Given the description of an element on the screen output the (x, y) to click on. 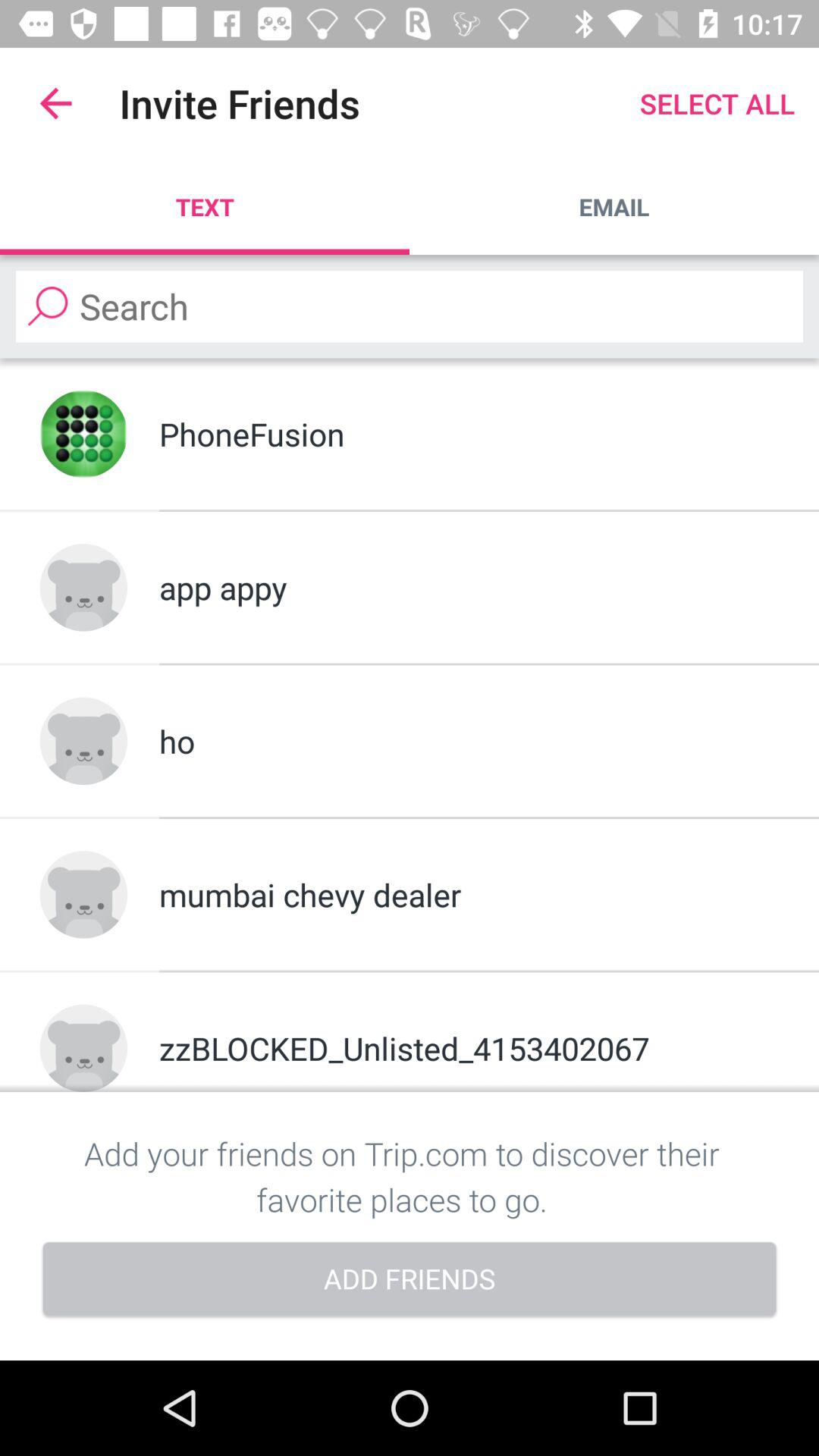
turn off the text item (204, 206)
